Given the description of an element on the screen output the (x, y) to click on. 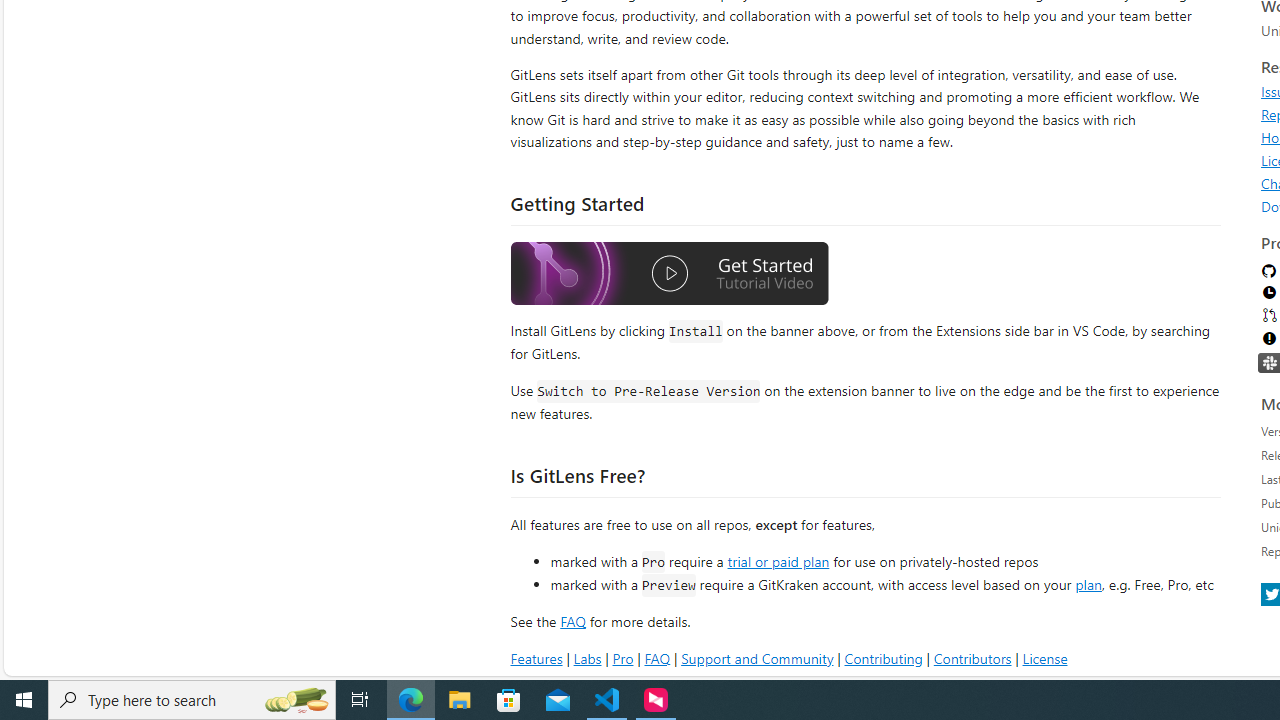
Contributing (882, 658)
Features (536, 658)
Watch the GitLens Getting Started video (669, 273)
Pro (622, 658)
Contributors (972, 658)
Labs (587, 658)
License (1044, 658)
FAQ (656, 658)
trial or paid plan (778, 560)
plan (1088, 584)
Support and Community (757, 658)
Watch the GitLens Getting Started video (669, 276)
